Given the description of an element on the screen output the (x, y) to click on. 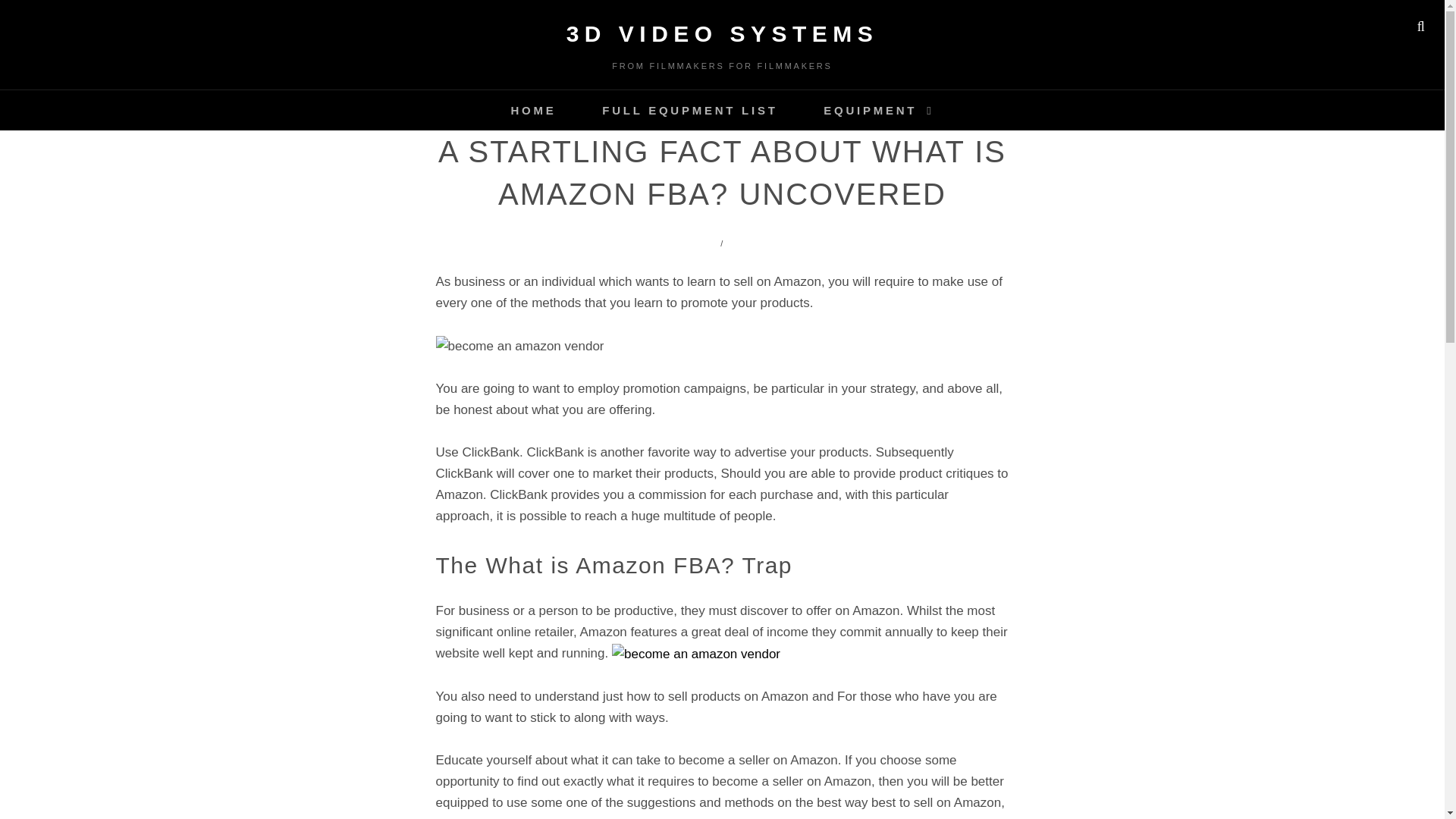
HOME (532, 110)
3D VIDEO SYSTEMS (722, 33)
FULL EQUPMENT LIST (688, 110)
EQUIPMENT (878, 110)
